Given the description of an element on the screen output the (x, y) to click on. 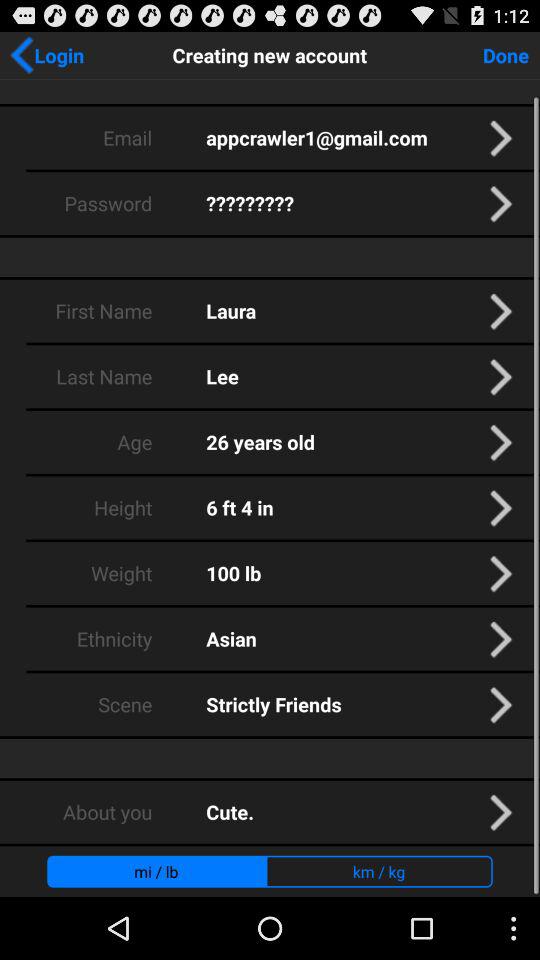
scroll to the login (46, 55)
